Given the description of an element on the screen output the (x, y) to click on. 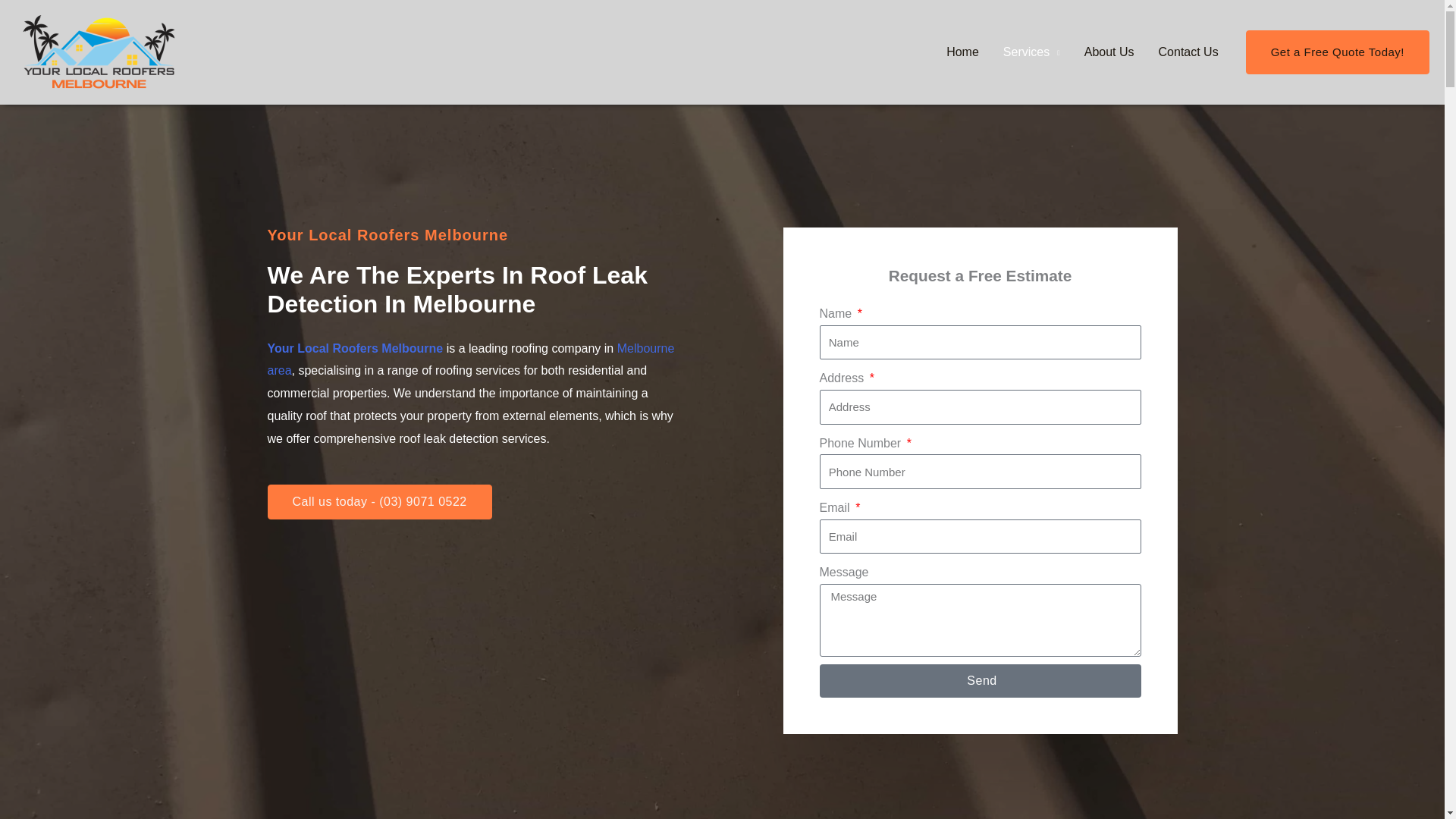
Contact Us (1188, 51)
Home (962, 51)
Your Local Roofers Melbourne (354, 348)
Services (1031, 51)
About Us (1109, 51)
Melbourne area (470, 359)
Send (979, 680)
Get a Free Quote Today! (1337, 52)
